Given the description of an element on the screen output the (x, y) to click on. 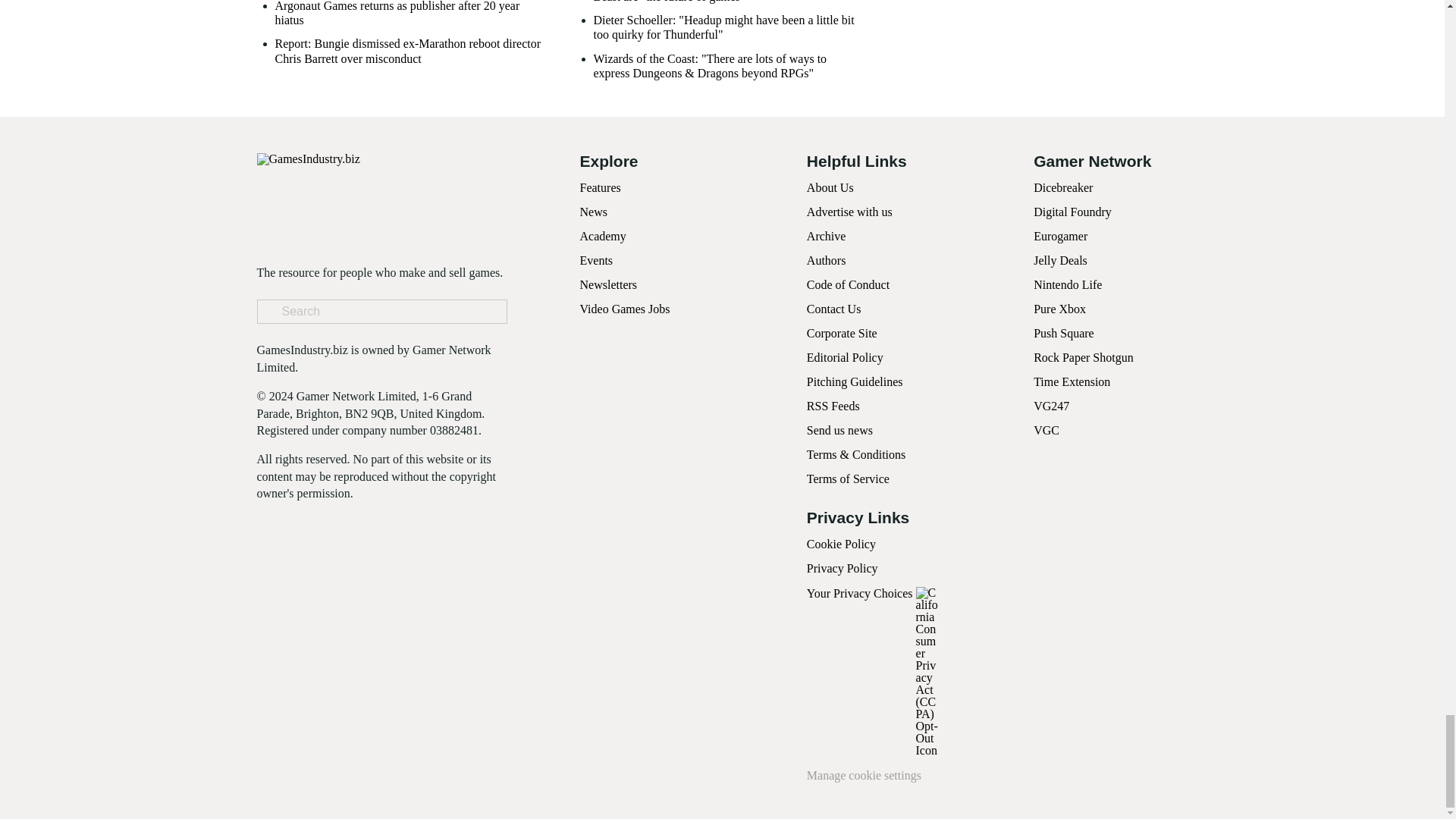
Features (599, 187)
Newsletters (608, 284)
Academy (602, 236)
About Us (829, 187)
News (593, 211)
Events (595, 259)
Video Games Jobs (624, 308)
Advertise with us (849, 211)
